Given the description of an element on the screen output the (x, y) to click on. 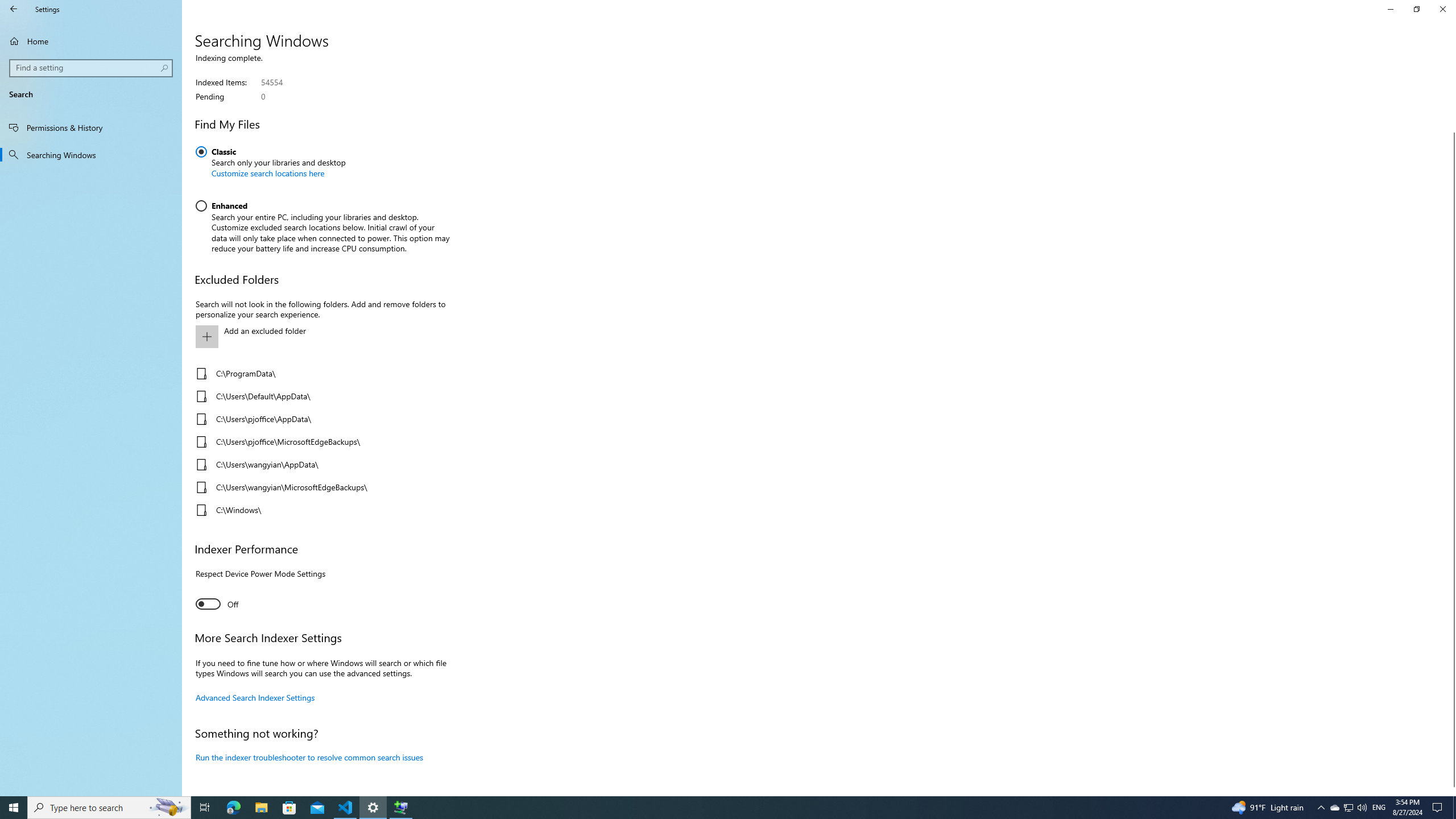
Add an excluded folder (319, 336)
Extensible Wizards Host Process - 1 running window (400, 807)
C:\Users\pjoffice\AppData\ (319, 418)
Customize search locations here (267, 172)
Indexer Performance. Respect Device Power Mode Settings (216, 603)
